Given the description of an element on the screen output the (x, y) to click on. 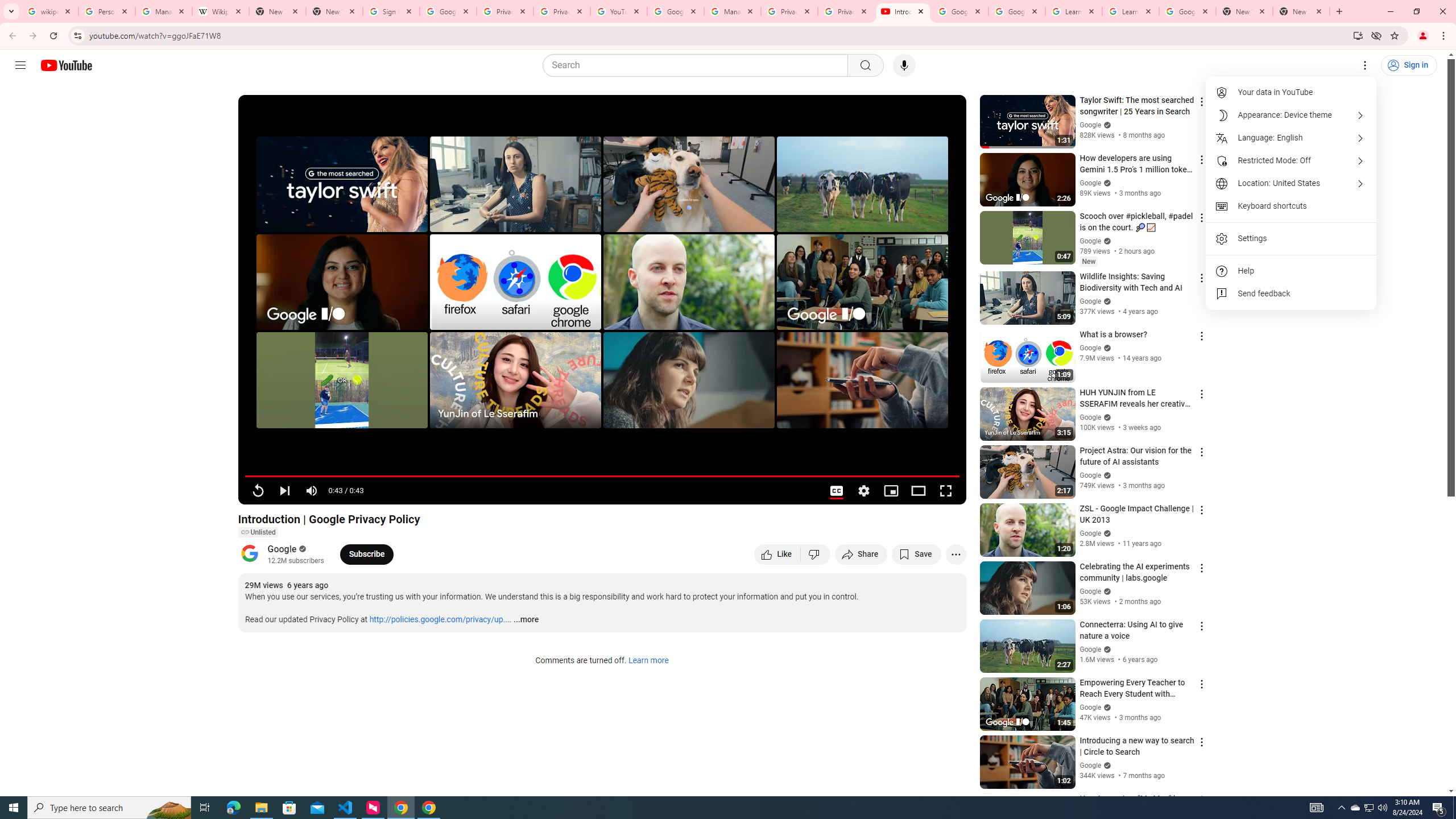
Guide (20, 65)
Learn more (647, 661)
Manage your Location History - Google Search Help (163, 11)
YouTube Home (66, 65)
New (1087, 261)
